Given the description of an element on the screen output the (x, y) to click on. 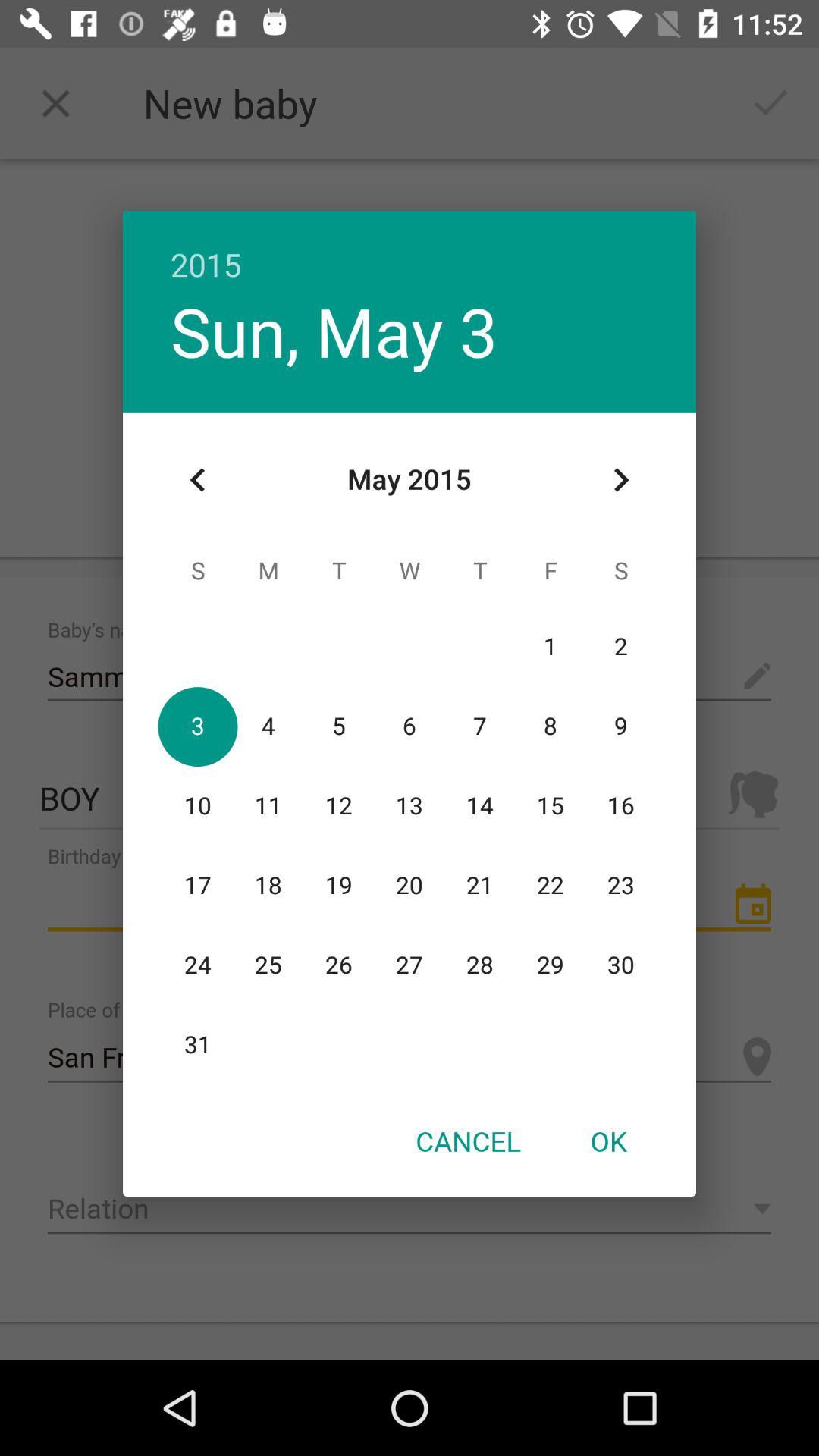
choose the 2015 icon (409, 248)
